Given the description of an element on the screen output the (x, y) to click on. 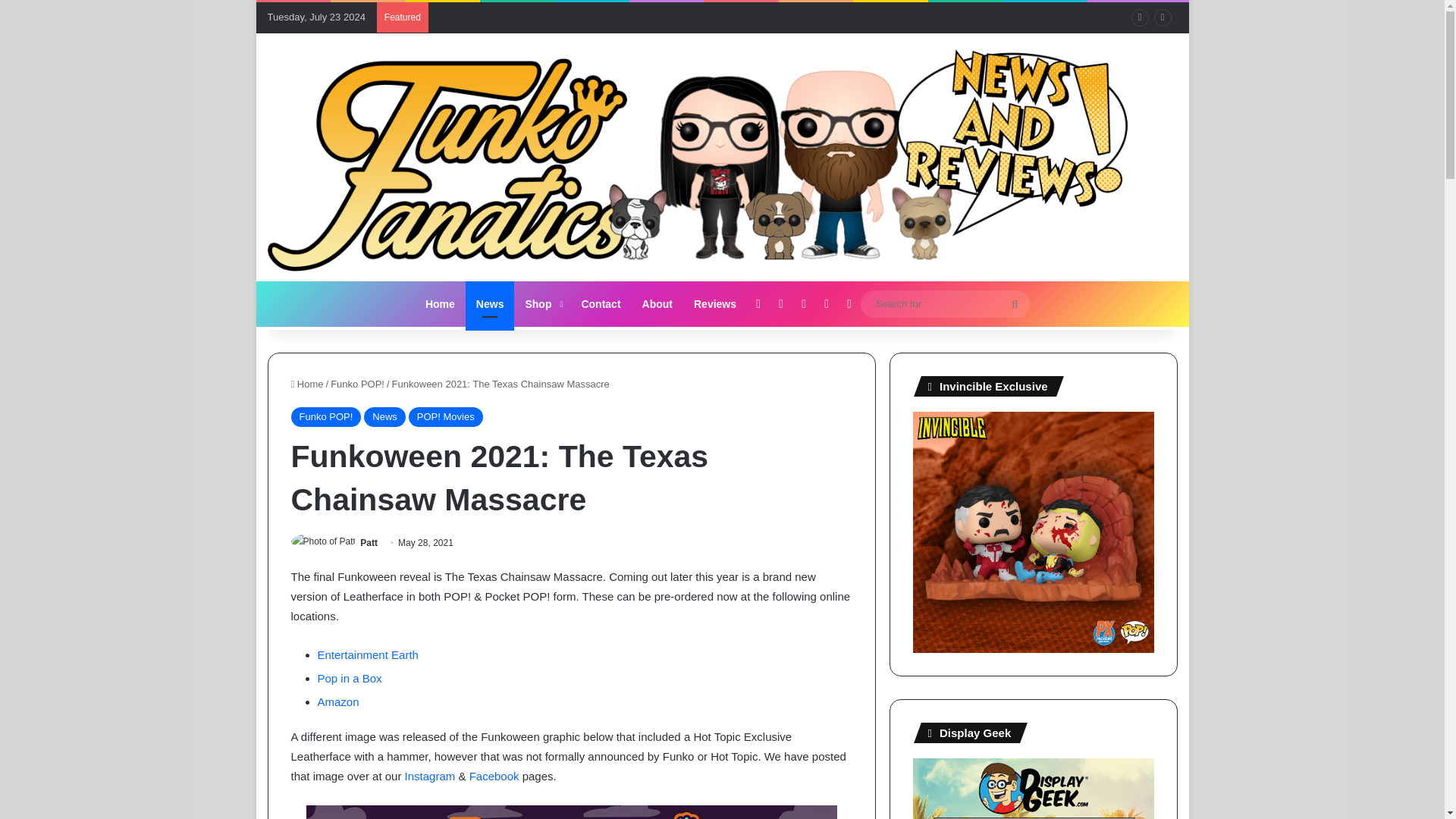
Reviews (714, 303)
Home (439, 303)
Funko POP! (357, 383)
Patt (368, 542)
Instagram (429, 775)
Pop in a Box (349, 677)
Switch skin (849, 303)
Funko POP! (326, 416)
Shop (541, 303)
About (656, 303)
Contact (600, 303)
News (385, 416)
POP! Movies (446, 416)
Switch skin (849, 303)
